Given the description of an element on the screen output the (x, y) to click on. 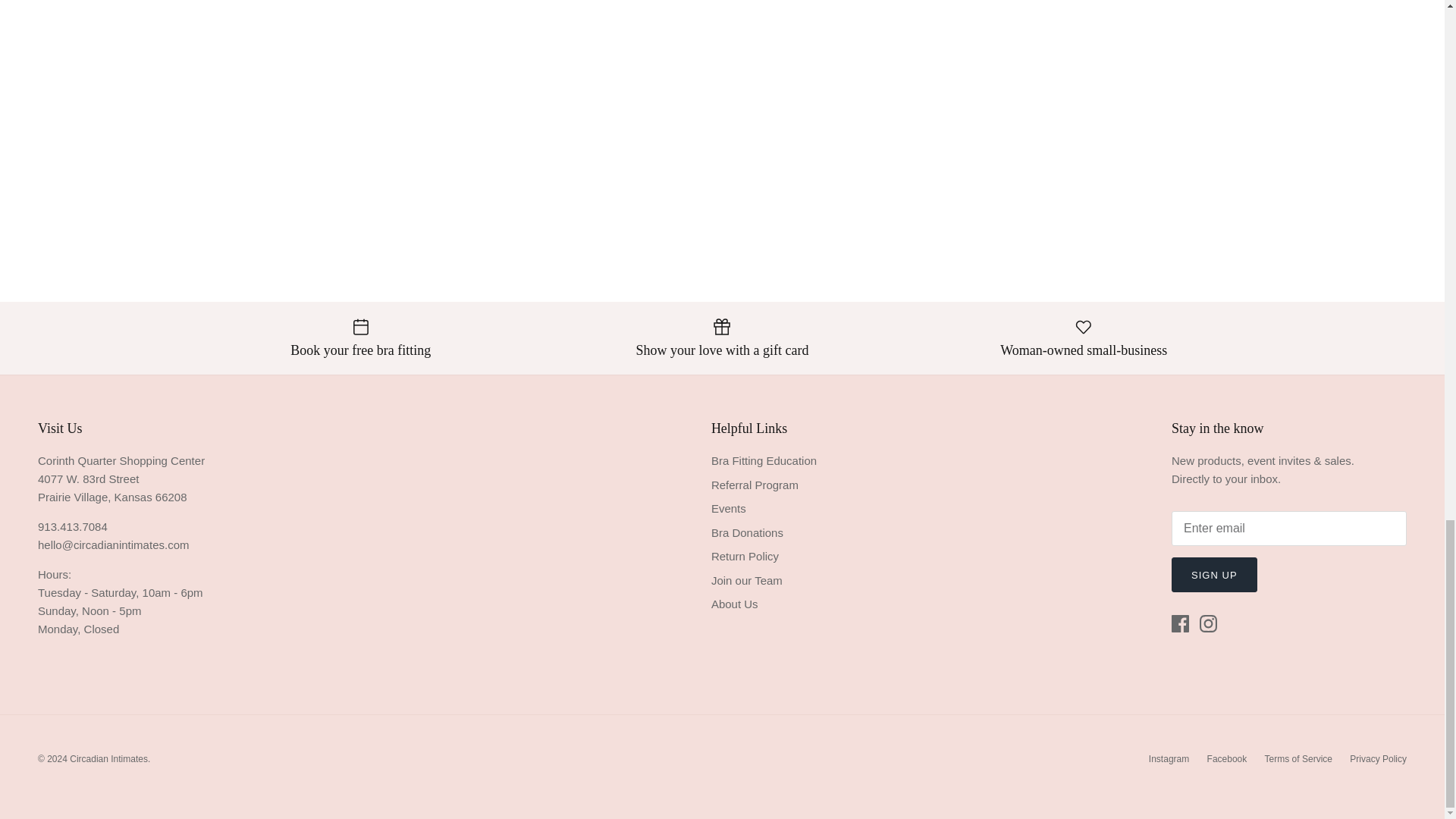
Facebook (1180, 623)
Instagram (1208, 623)
